Given the description of an element on the screen output the (x, y) to click on. 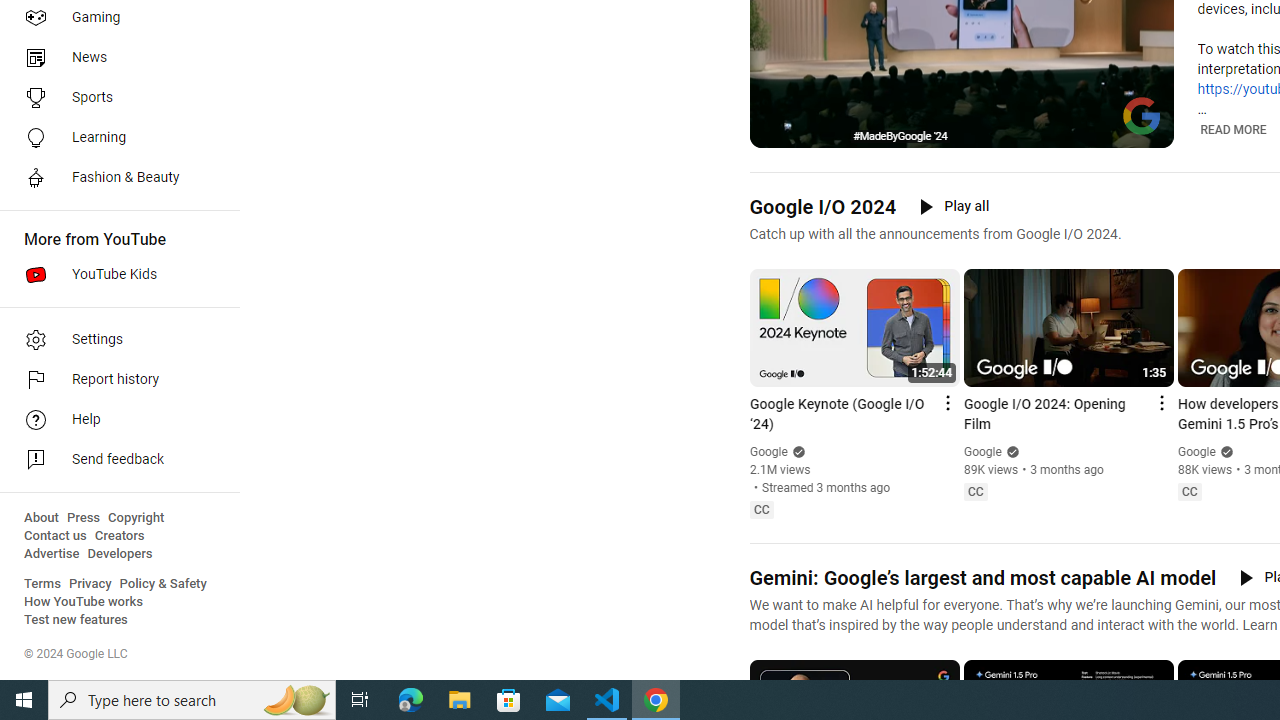
Test new features (76, 620)
Press (83, 518)
Copyright (136, 518)
Action menu (1160, 403)
Closed captions (1189, 492)
About (41, 518)
Policy & Safety (163, 584)
READ MORE (1233, 129)
Learning (113, 137)
Seek slider (961, 109)
